Given the description of an element on the screen output the (x, y) to click on. 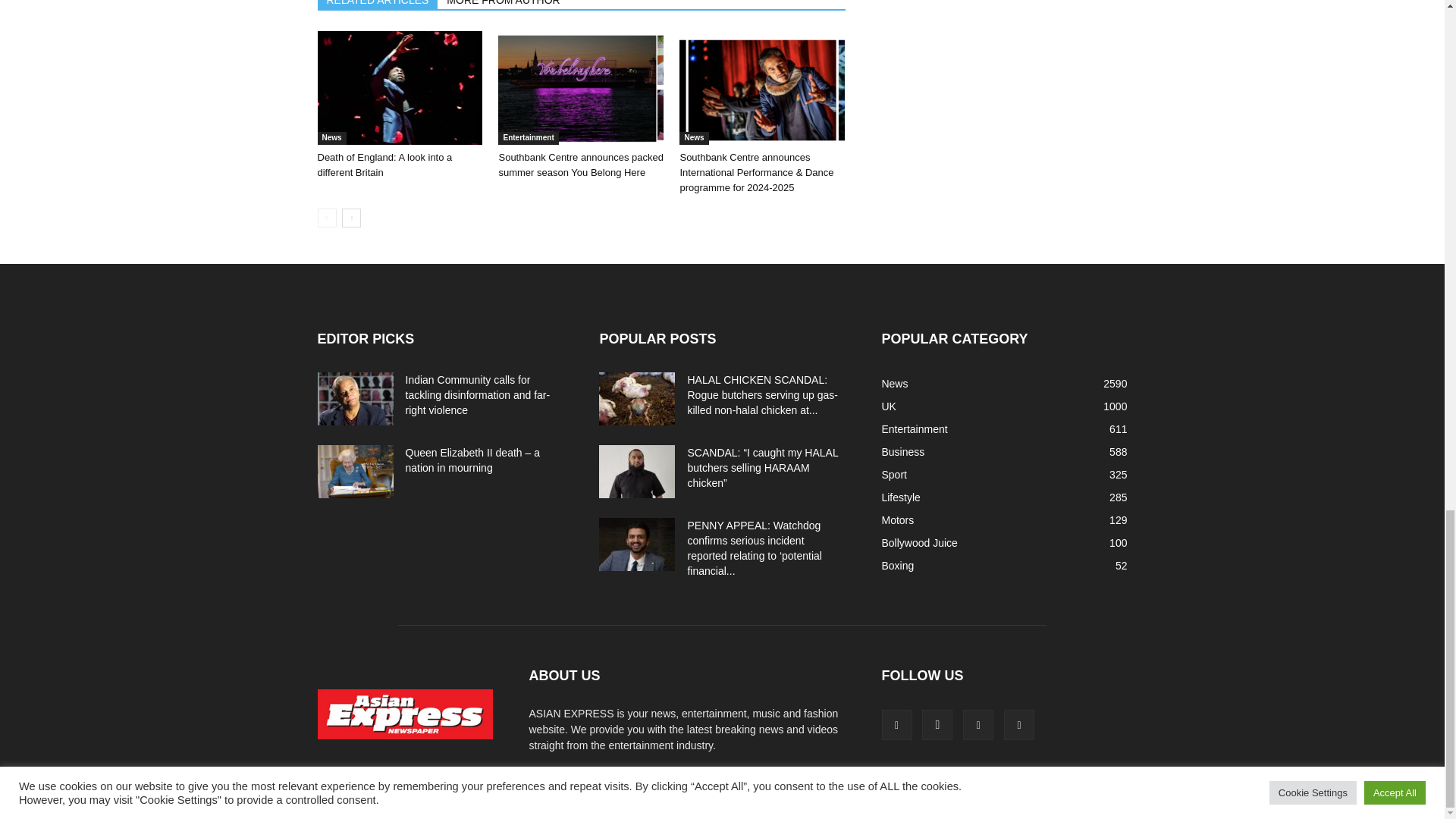
Death of England: A look into a different Britain (399, 87)
Death of England: A look into a different Britain (384, 164)
